Given the description of an element on the screen output the (x, y) to click on. 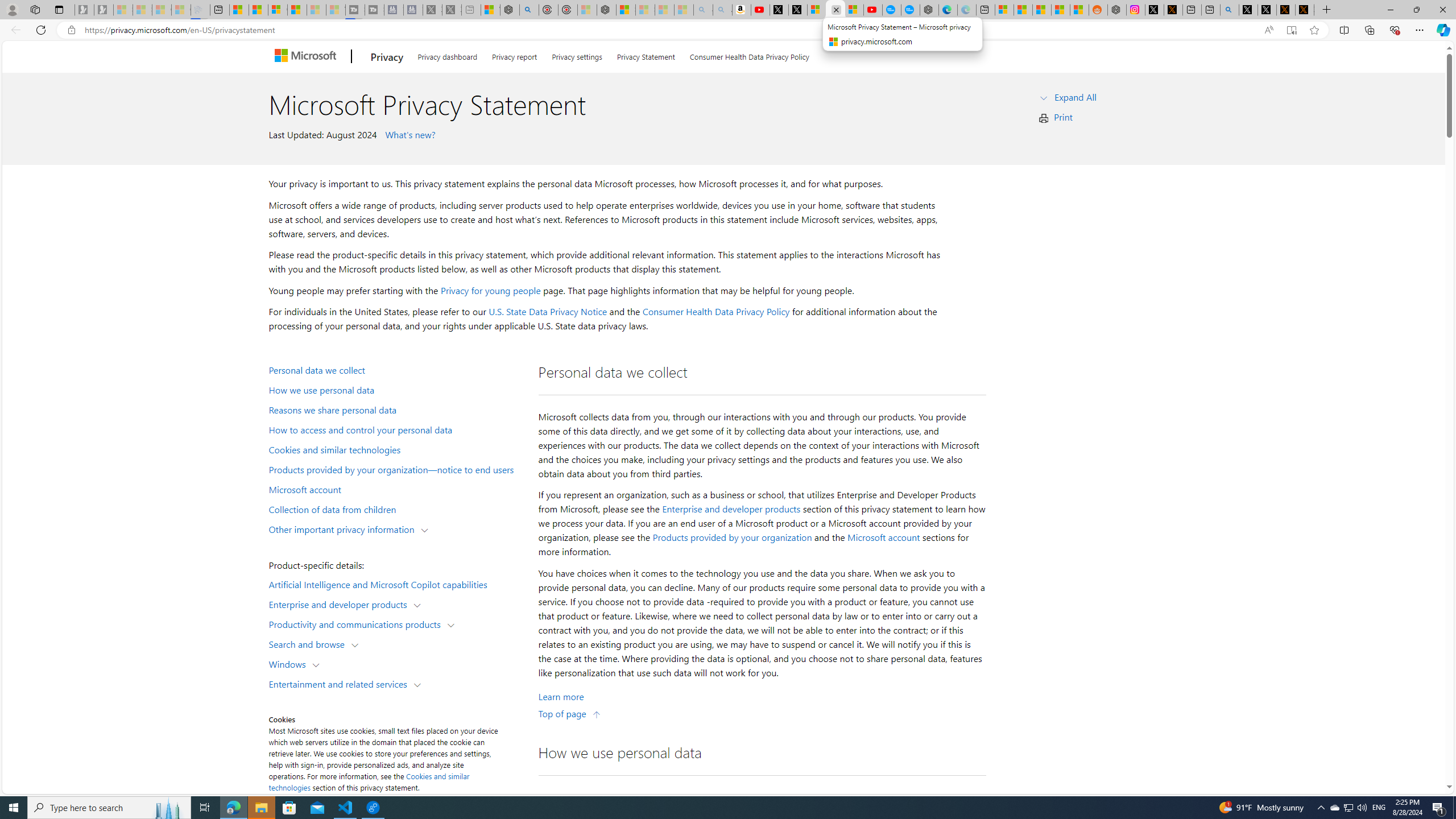
Top of page (569, 713)
How to access and control your personal data (395, 428)
Windows (289, 663)
Newsletter Sign Up - Sleeping (102, 9)
Learn More about Personal data we collect (560, 696)
